Given the description of an element on the screen output the (x, y) to click on. 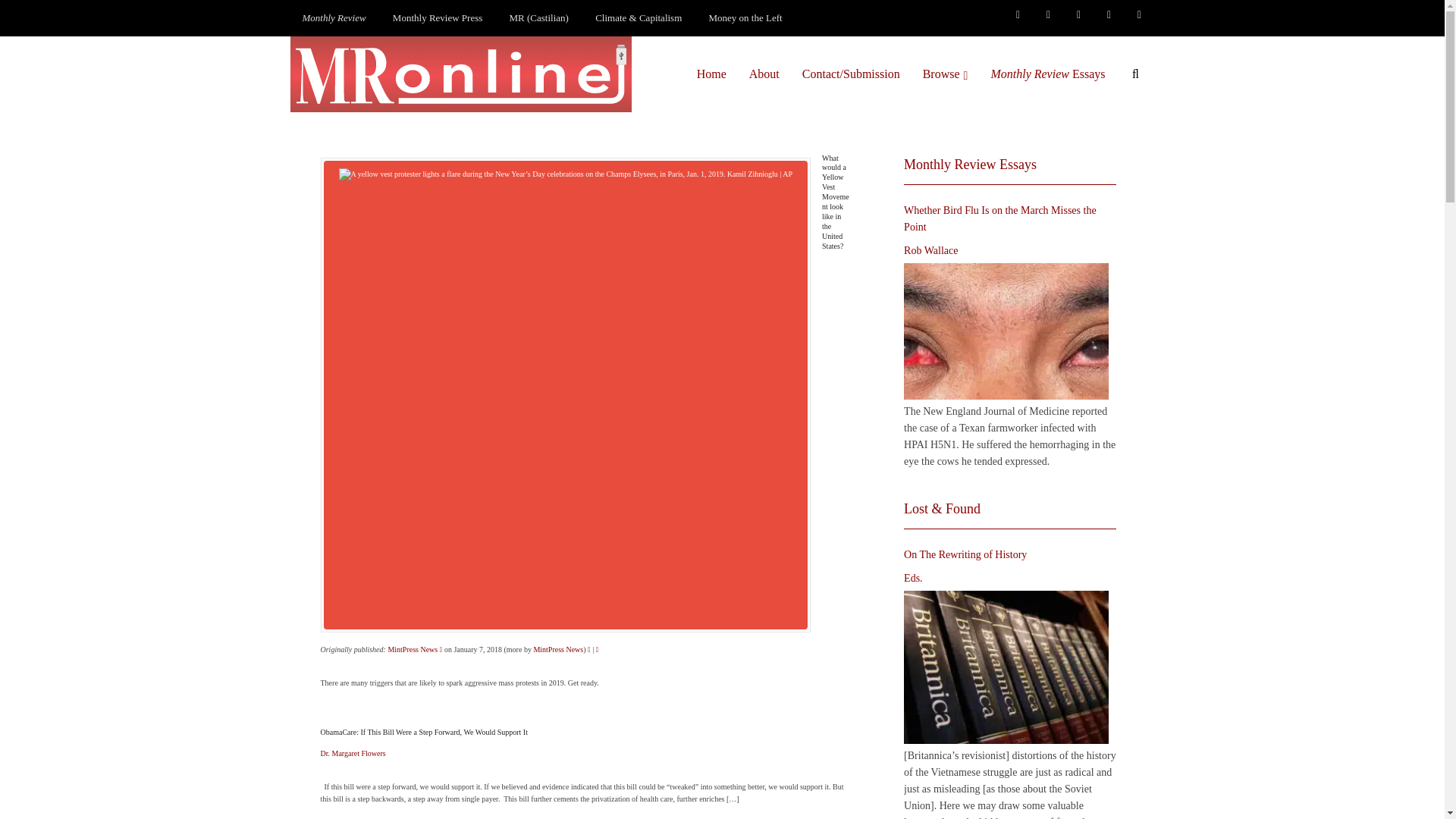
Monthly Review Press (437, 18)
Monthly Review (333, 18)
Money on the Left (745, 18)
Posts by Rob Wallace (931, 250)
Browse (945, 74)
On The Rewriting of History (1006, 666)
Whether Bird Flu Is on the March Misses the Point (1006, 330)
Posts by Eds. (913, 578)
Monthly Review Magazine (333, 18)
